Given the description of an element on the screen output the (x, y) to click on. 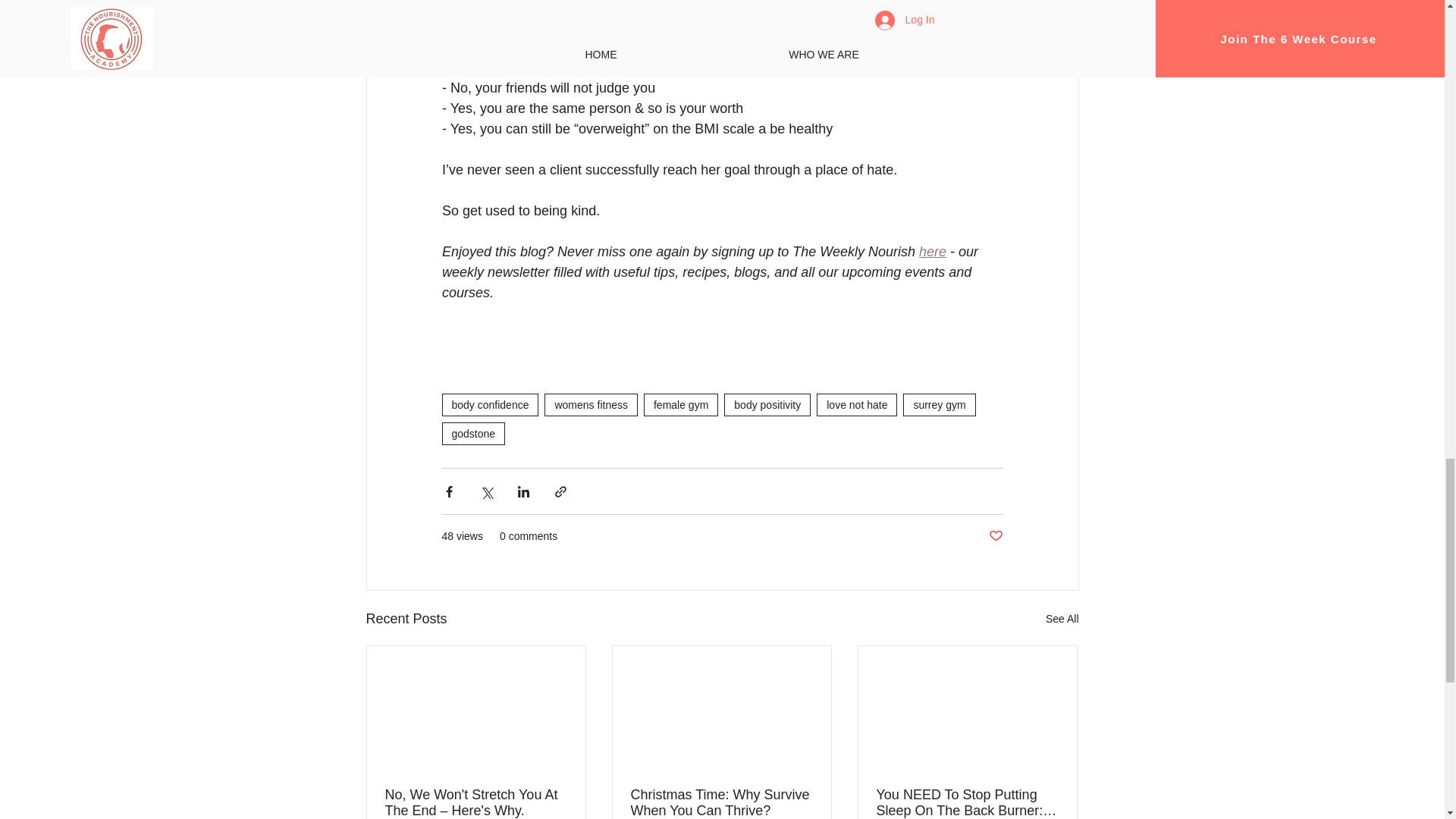
womens fitness (590, 404)
love not hate (856, 404)
body positivity (766, 404)
godstone (473, 433)
female gym (680, 404)
Post not marked as liked (995, 536)
surrey gym (938, 404)
body confidence (489, 404)
Christmas Time: Why Survive When You Can Thrive? (721, 803)
here (932, 251)
